Given the description of an element on the screen output the (x, y) to click on. 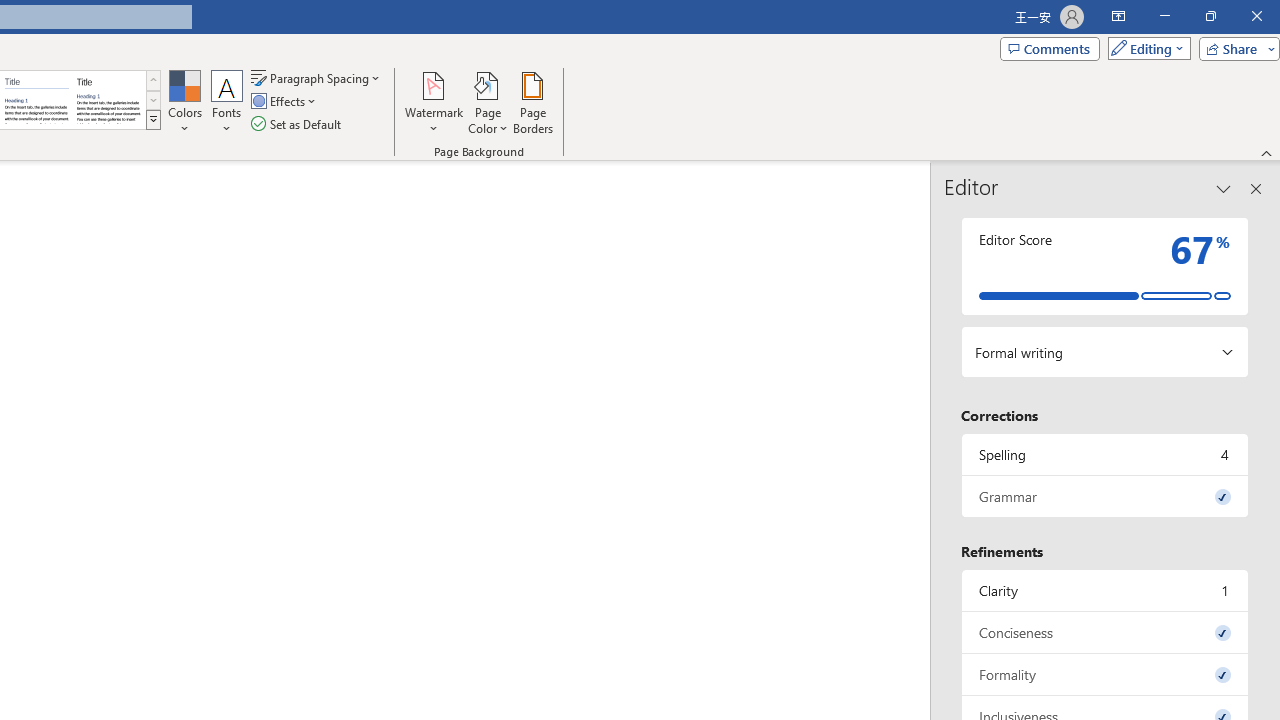
Page Borders... (532, 102)
